Given the description of an element on the screen output the (x, y) to click on. 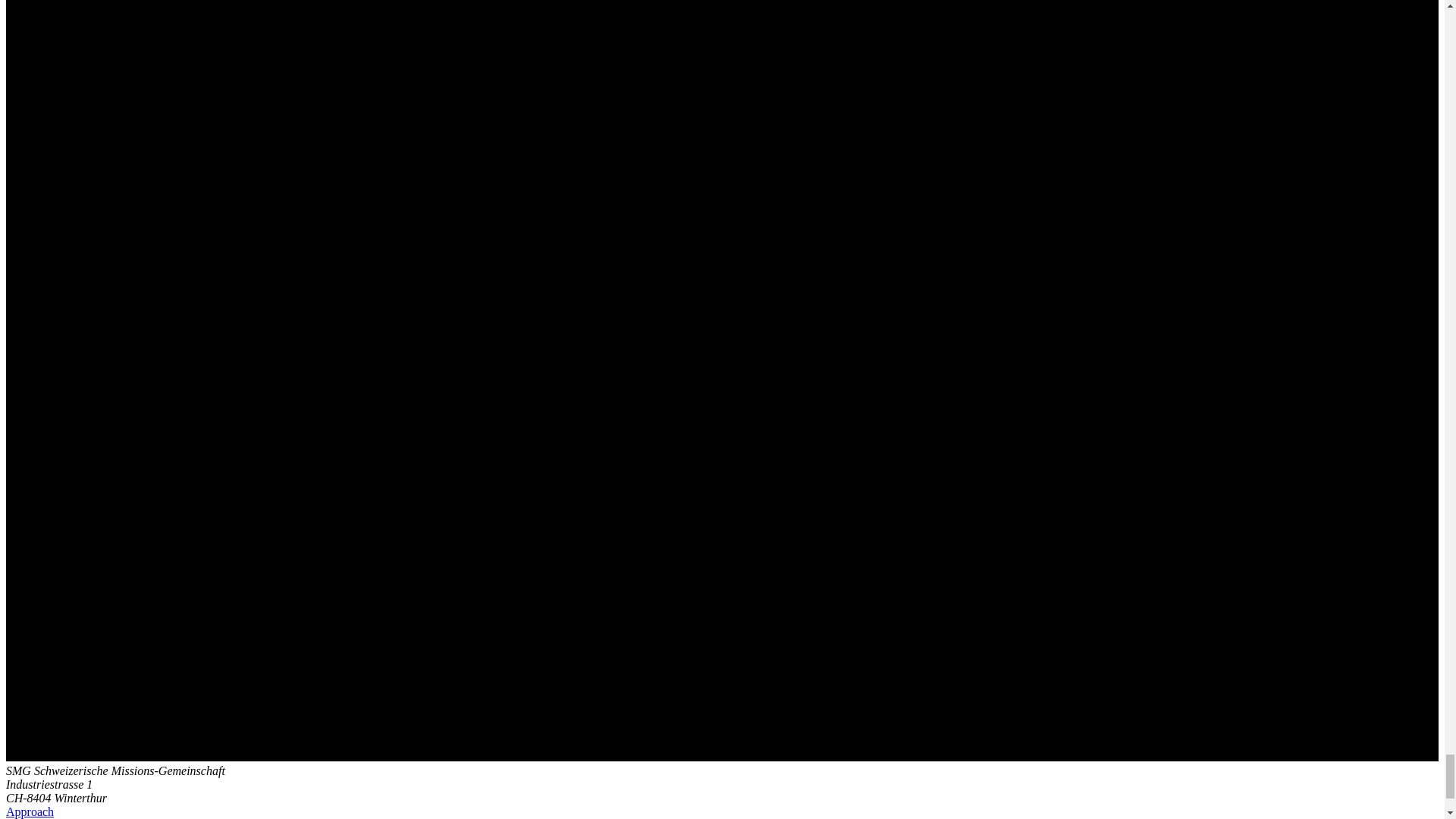
Approach (29, 811)
